Given the description of an element on the screen output the (x, y) to click on. 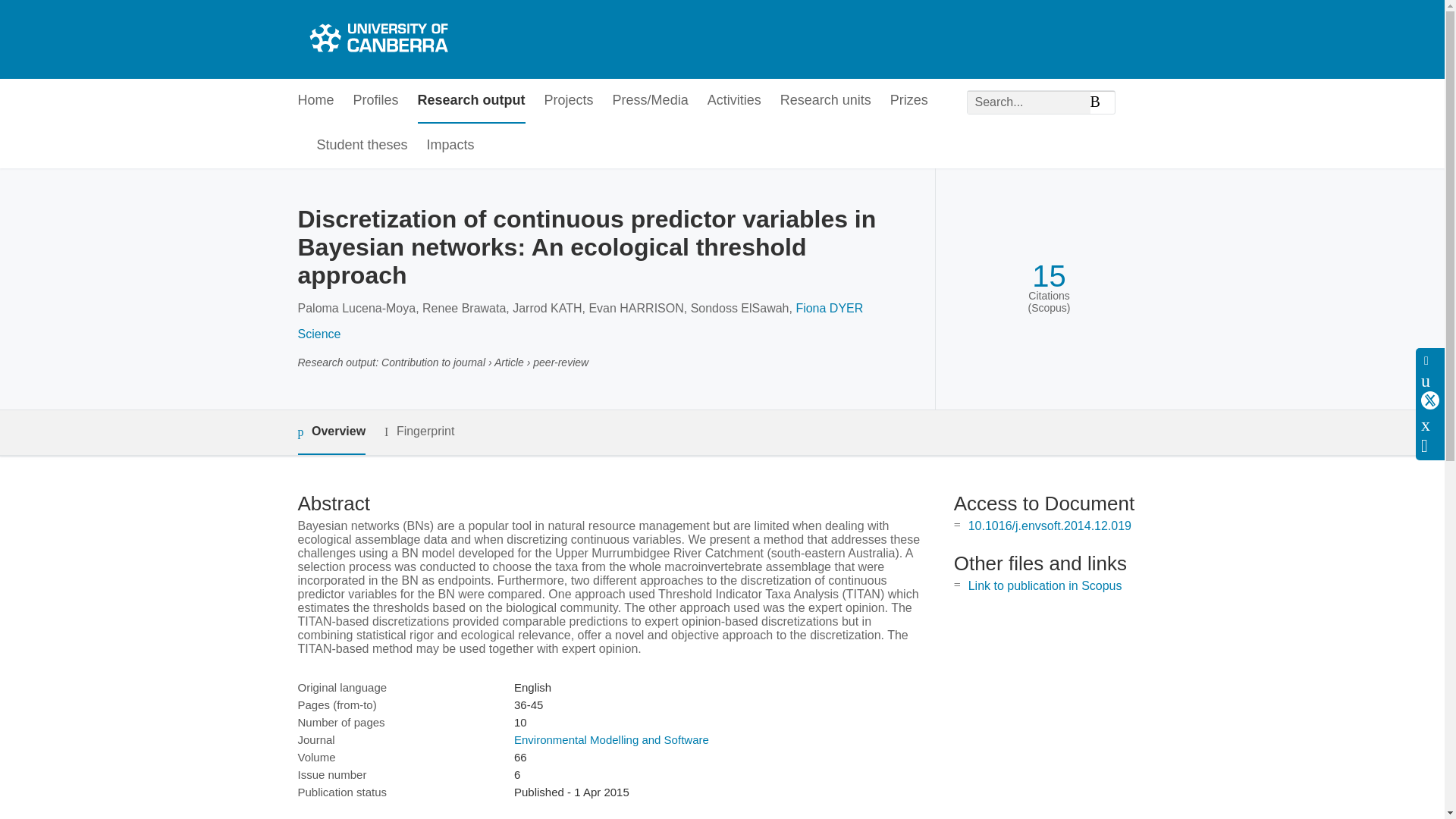
Research units (825, 100)
Student theses (362, 145)
University of Canberra Research Portal Home (377, 39)
Fiona DYER (828, 308)
15 (1048, 275)
Science (318, 333)
Overview (331, 432)
Projects (569, 100)
Fingerprint (419, 431)
